Given the description of an element on the screen output the (x, y) to click on. 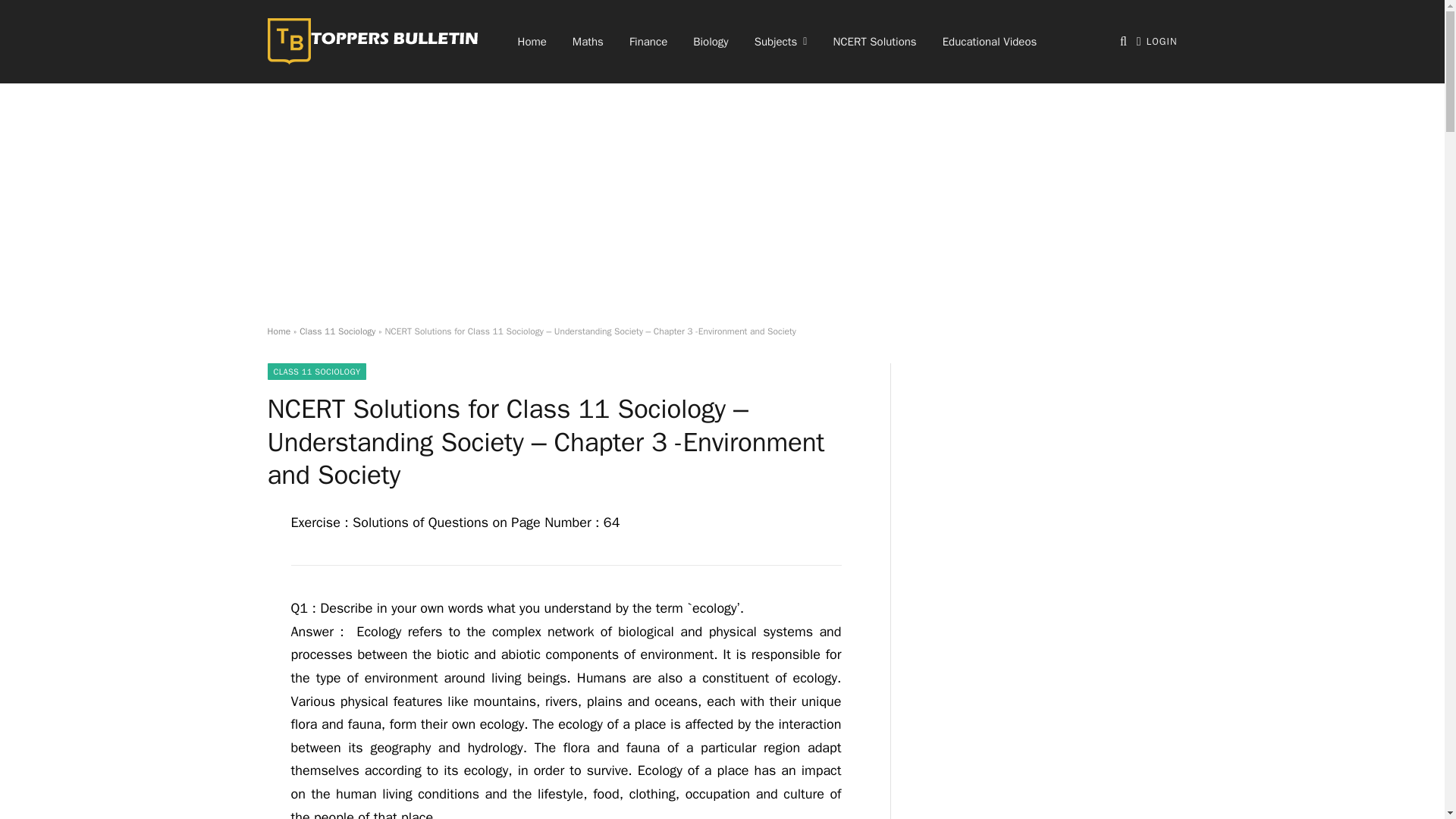
CLASS 11 SOCIOLOGY (316, 371)
Home (277, 331)
Toppers Bulletin (371, 41)
Class 11 Sociology (337, 331)
NCERT Solutions (873, 41)
LOGIN (1157, 41)
Educational Videos (989, 41)
Subjects (781, 41)
